Given the description of an element on the screen output the (x, y) to click on. 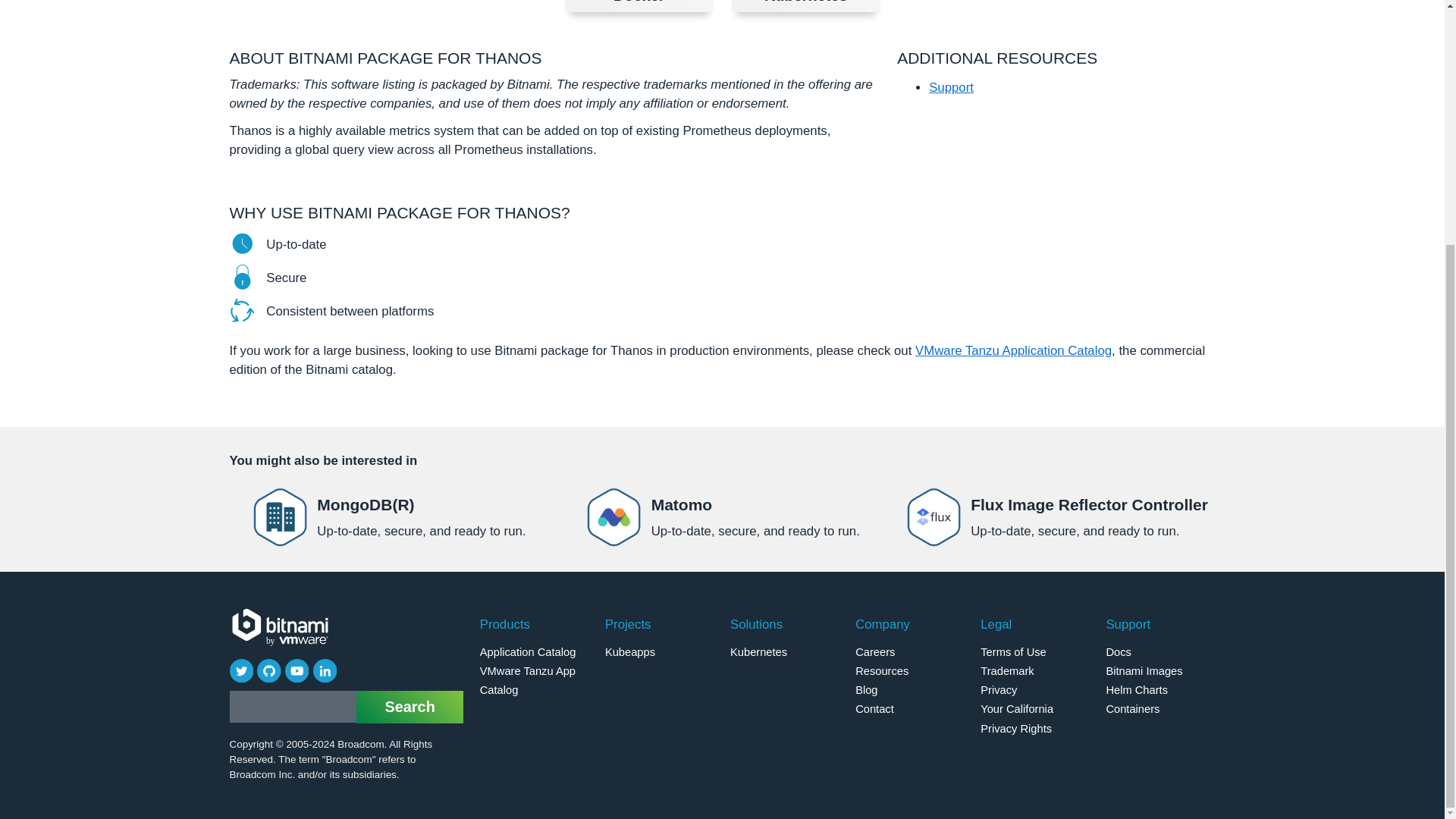
Kubernetes (806, 6)
VMware Tanzu Application Catalog (1013, 350)
Docker (638, 6)
Support (721, 516)
